Given the description of an element on the screen output the (x, y) to click on. 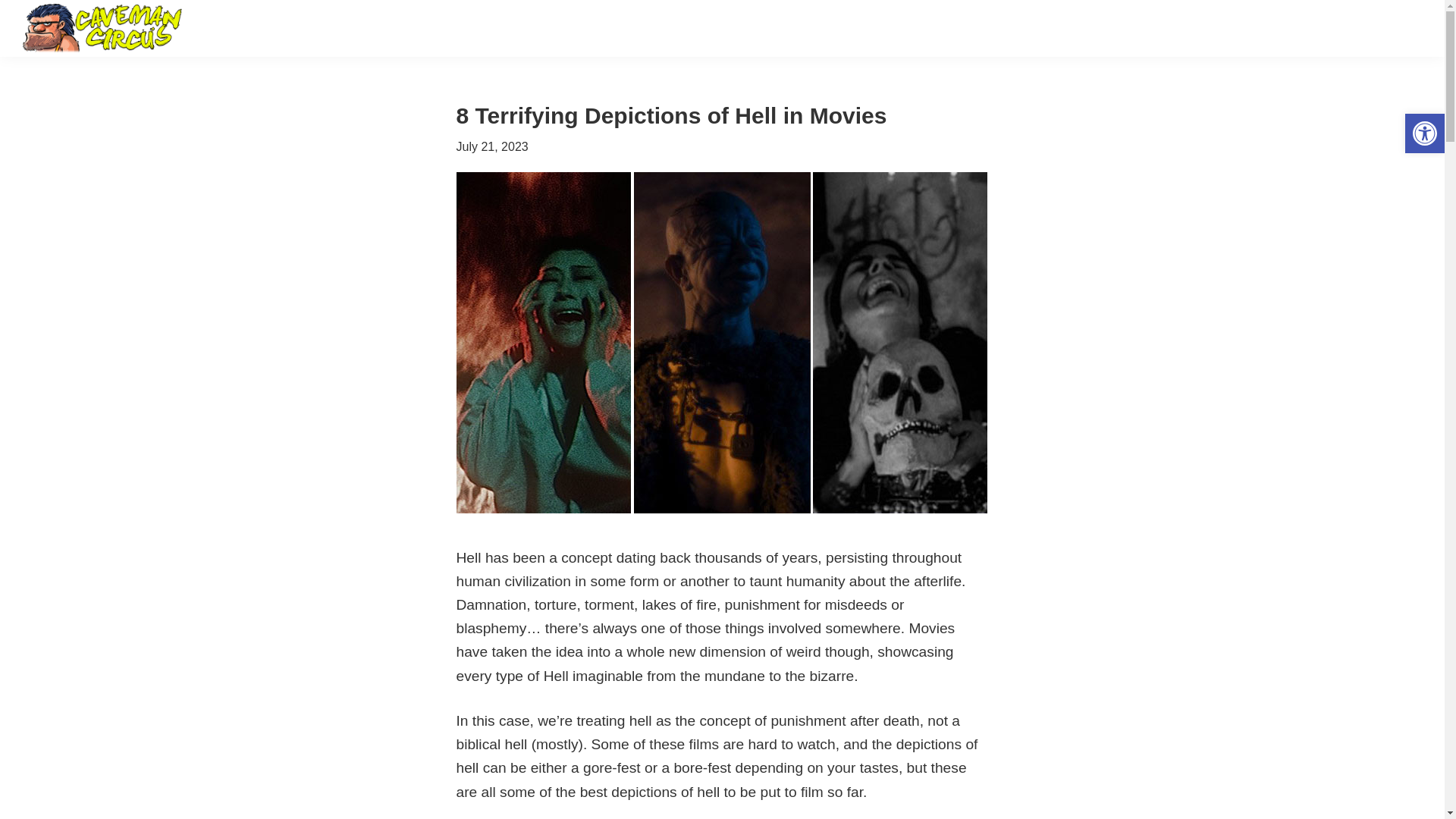
Accessibility Tools (1424, 133)
